Given the description of an element on the screen output the (x, y) to click on. 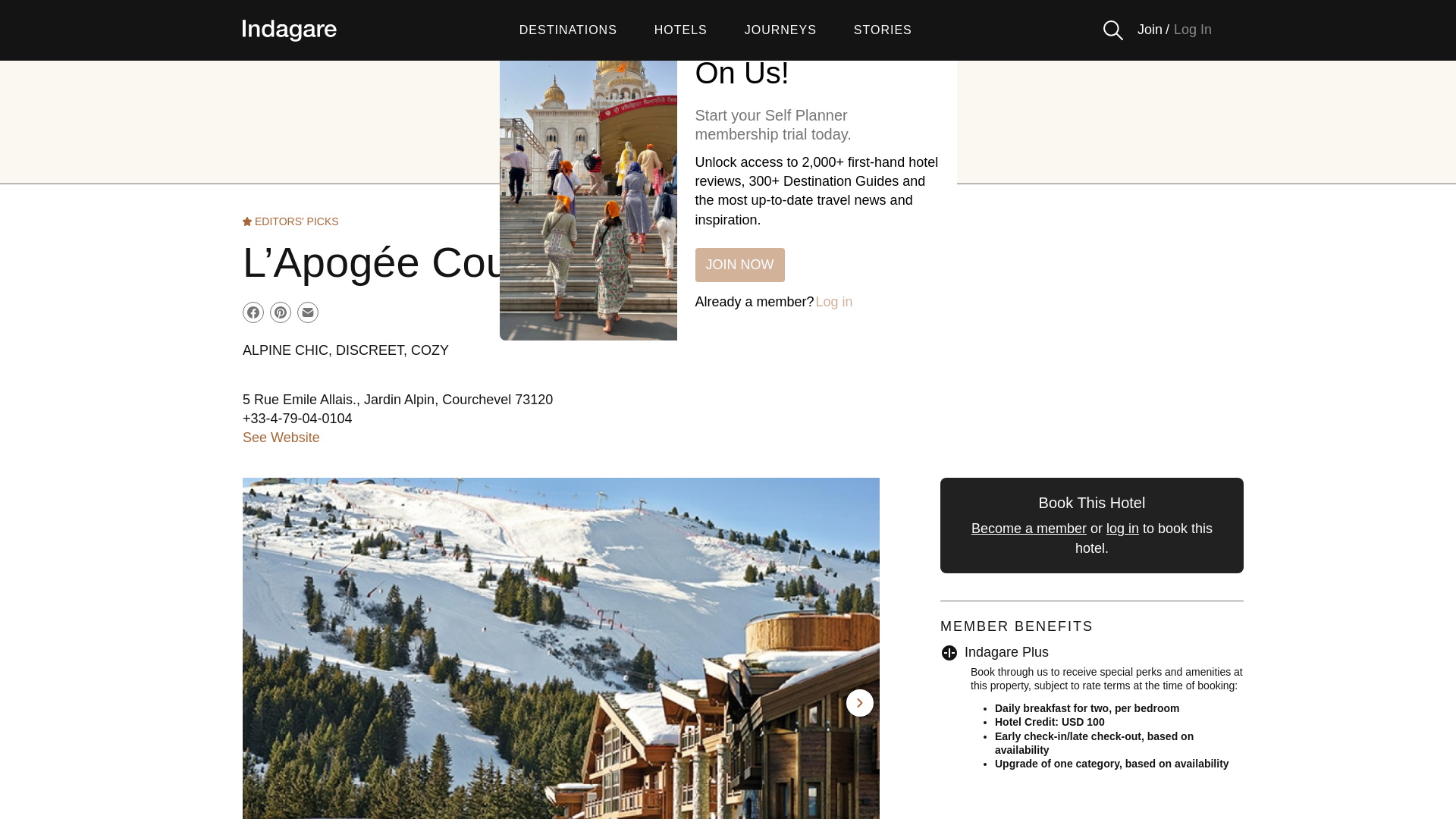
Share via Facebook (253, 312)
Share via Email (307, 312)
HOTELS (680, 30)
COURCHEVEL (727, 119)
Become a member (1028, 528)
JOIN NOW (739, 264)
Stay (522, 161)
DESTINATIONS (568, 30)
Log in (833, 301)
Inspiration (913, 161)
Log In (1192, 29)
log in (1122, 528)
Shop (687, 161)
STORIES (882, 30)
JOURNEYS (780, 30)
